Given the description of an element on the screen output the (x, y) to click on. 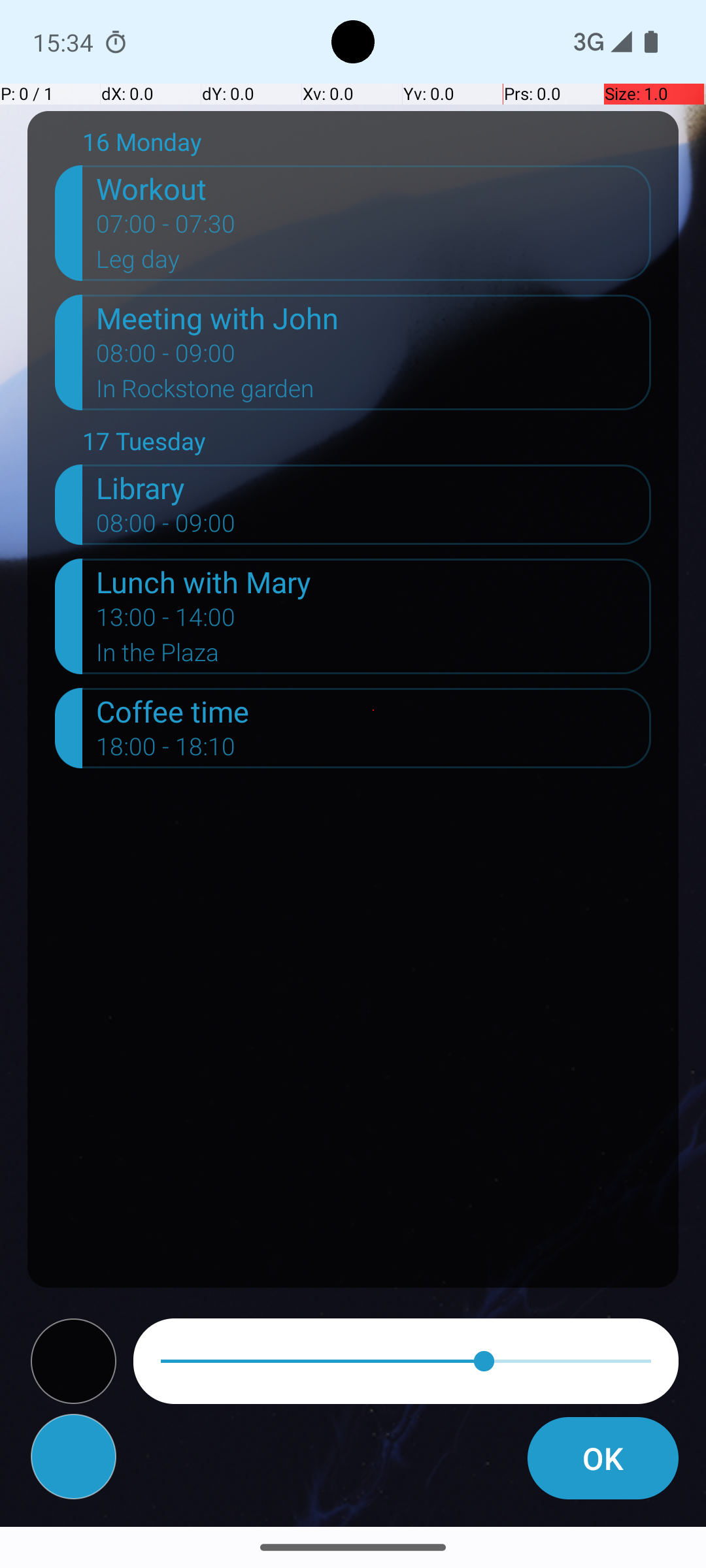
Workout Element type: android.widget.TextView (373, 187)
07:00 - 07:30 Element type: android.widget.TextView (165, 227)
Leg day Element type: android.widget.TextView (373, 262)
Meeting with John Element type: android.widget.TextView (373, 316)
08:00 - 09:00 Element type: android.widget.TextView (165, 357)
In Rockstone garden Element type: android.widget.TextView (373, 392)
Lunch with Mary Element type: android.widget.TextView (373, 580)
13:00 - 14:00 Element type: android.widget.TextView (165, 620)
In the Plaza Element type: android.widget.TextView (373, 656)
Coffee time Element type: android.widget.TextView (373, 710)
18:00 - 18:10 Element type: android.widget.TextView (165, 750)
